Given the description of an element on the screen output the (x, y) to click on. 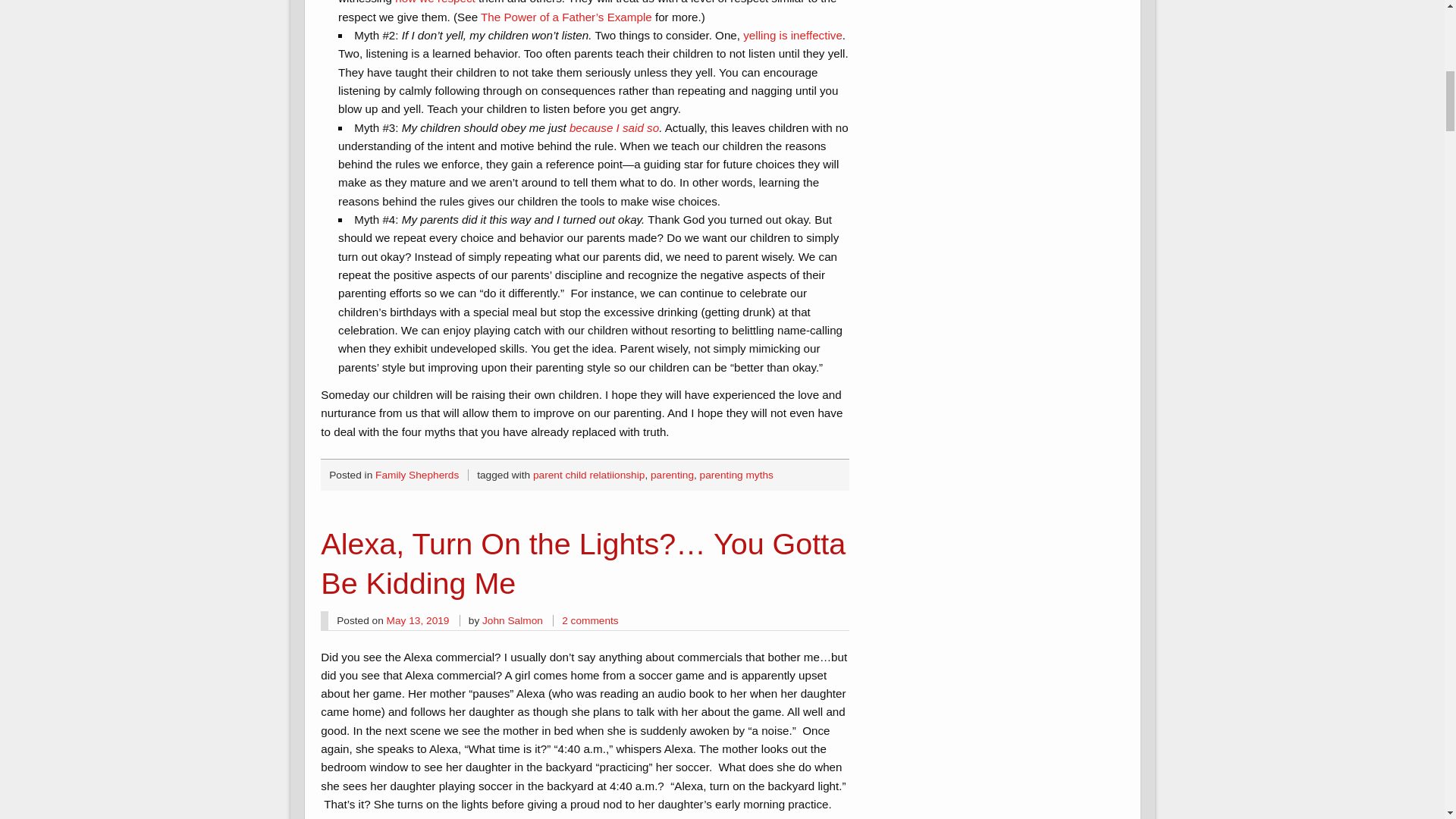
parent child relatiionship (588, 474)
yelling is ineffective (792, 34)
View all posts by John Salmon (512, 620)
May 13, 2019 (418, 620)
parenting myths (736, 474)
Family Shepherds (416, 474)
parenting (672, 474)
because I said so (614, 127)
how we respect (435, 2)
8:00 pm (418, 620)
